Given the description of an element on the screen output the (x, y) to click on. 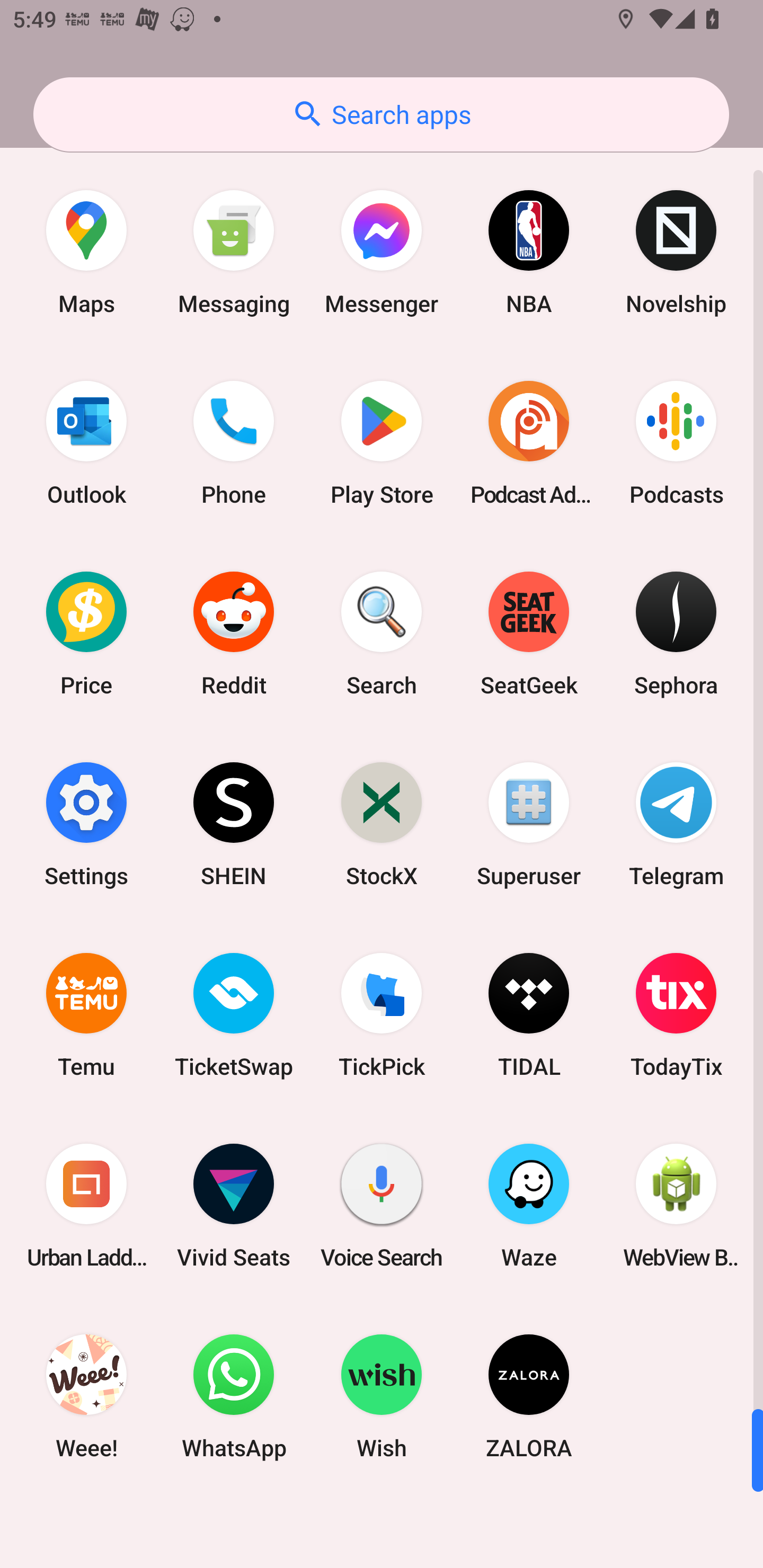
  Search apps (381, 114)
Maps (86, 252)
Messaging (233, 252)
Messenger (381, 252)
NBA (528, 252)
Novelship (676, 252)
Outlook (86, 442)
Phone (233, 442)
Play Store (381, 442)
Podcast Addict (528, 442)
Podcasts (676, 442)
Price (86, 633)
Reddit (233, 633)
Search (381, 633)
SeatGeek (528, 633)
Sephora (676, 633)
Settings (86, 823)
SHEIN (233, 823)
StockX (381, 823)
Superuser (528, 823)
Telegram (676, 823)
Temu (86, 1014)
TicketSwap (233, 1014)
TickPick (381, 1014)
TIDAL (528, 1014)
TodayTix (676, 1014)
Urban Ladder (86, 1205)
Vivid Seats (233, 1205)
Voice Search (381, 1205)
Waze (528, 1205)
WebView Browser Tester (676, 1205)
Weee! (86, 1396)
WhatsApp (233, 1396)
Wish (381, 1396)
ZALORA (528, 1396)
